Given the description of an element on the screen output the (x, y) to click on. 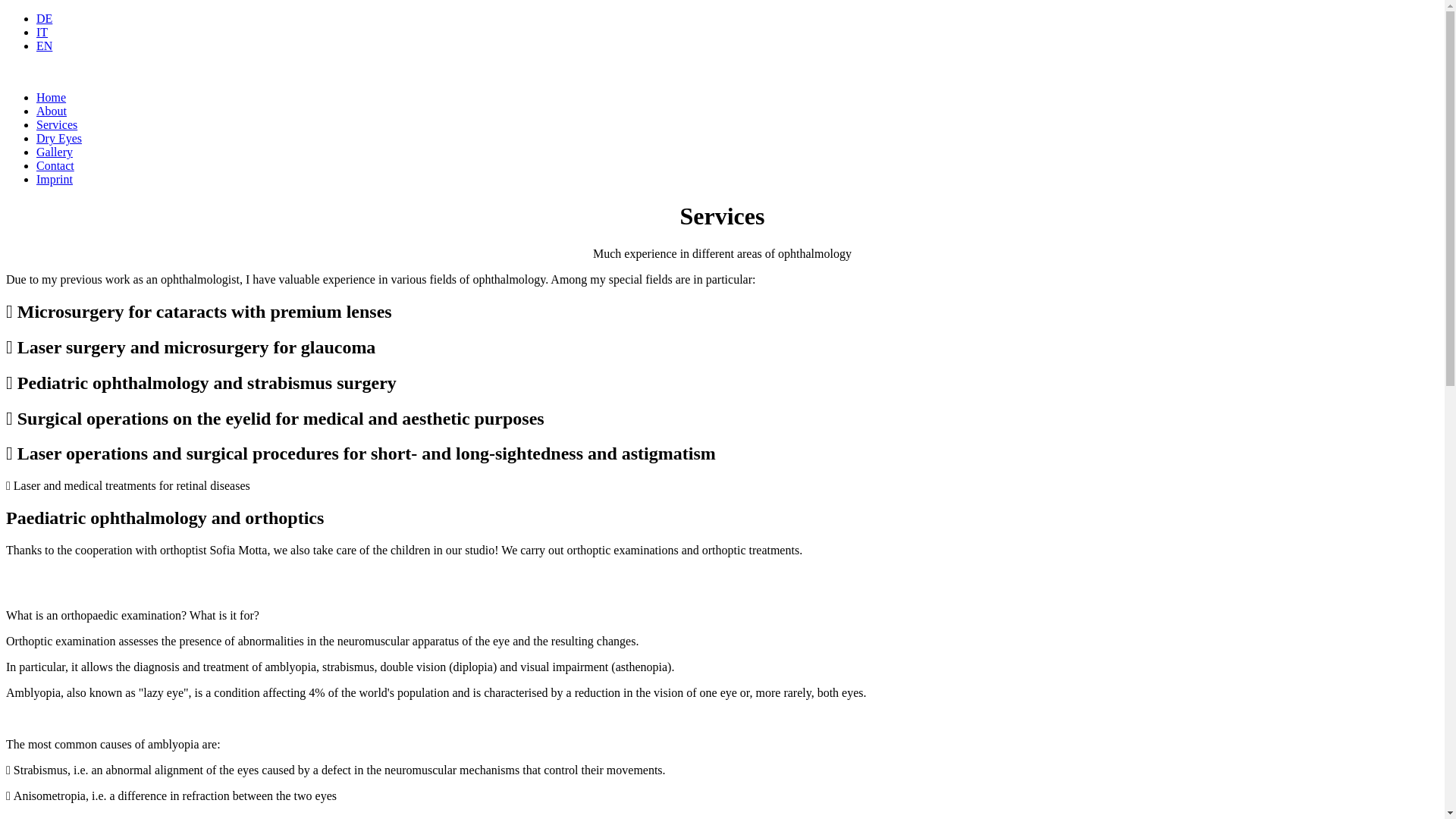
Dry Eyes Element type: text (58, 137)
DE Element type: text (44, 18)
About Element type: text (51, 110)
Services Element type: text (56, 124)
Imprint Element type: text (54, 178)
EN Element type: text (44, 45)
Home Element type: text (50, 97)
IT Element type: text (41, 31)
Gallery Element type: text (54, 151)
Contact Element type: text (55, 165)
